Given the description of an element on the screen output the (x, y) to click on. 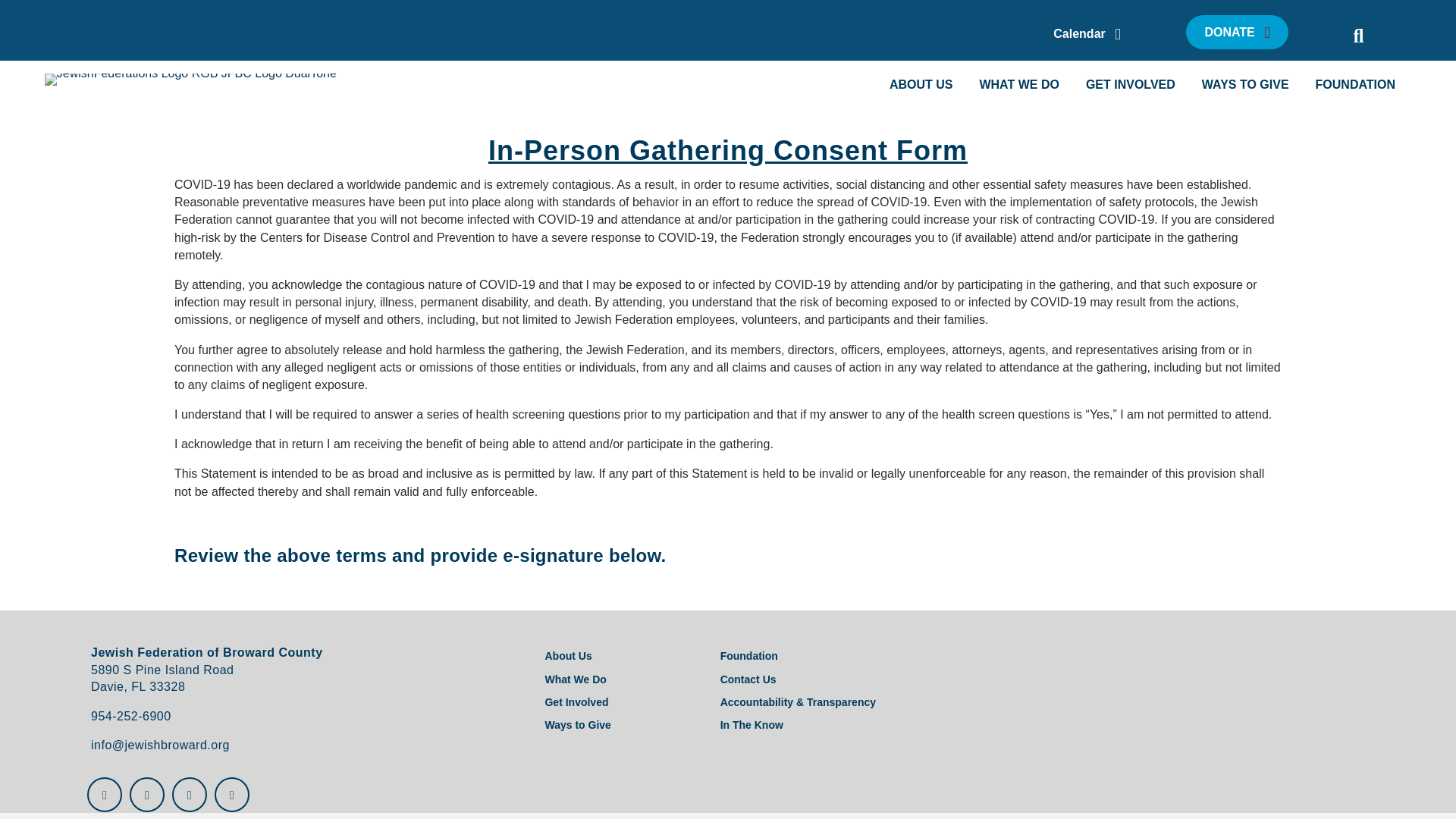
WHAT WE DO (1018, 83)
ABOUT US (921, 83)
Calendar (1086, 33)
GET INVOLVED (1130, 83)
JewishFederations Logo RGB JFBC Logo DualTone (190, 79)
DONATE (1236, 32)
WAYS TO GIVE (1245, 83)
